Given the description of an element on the screen output the (x, y) to click on. 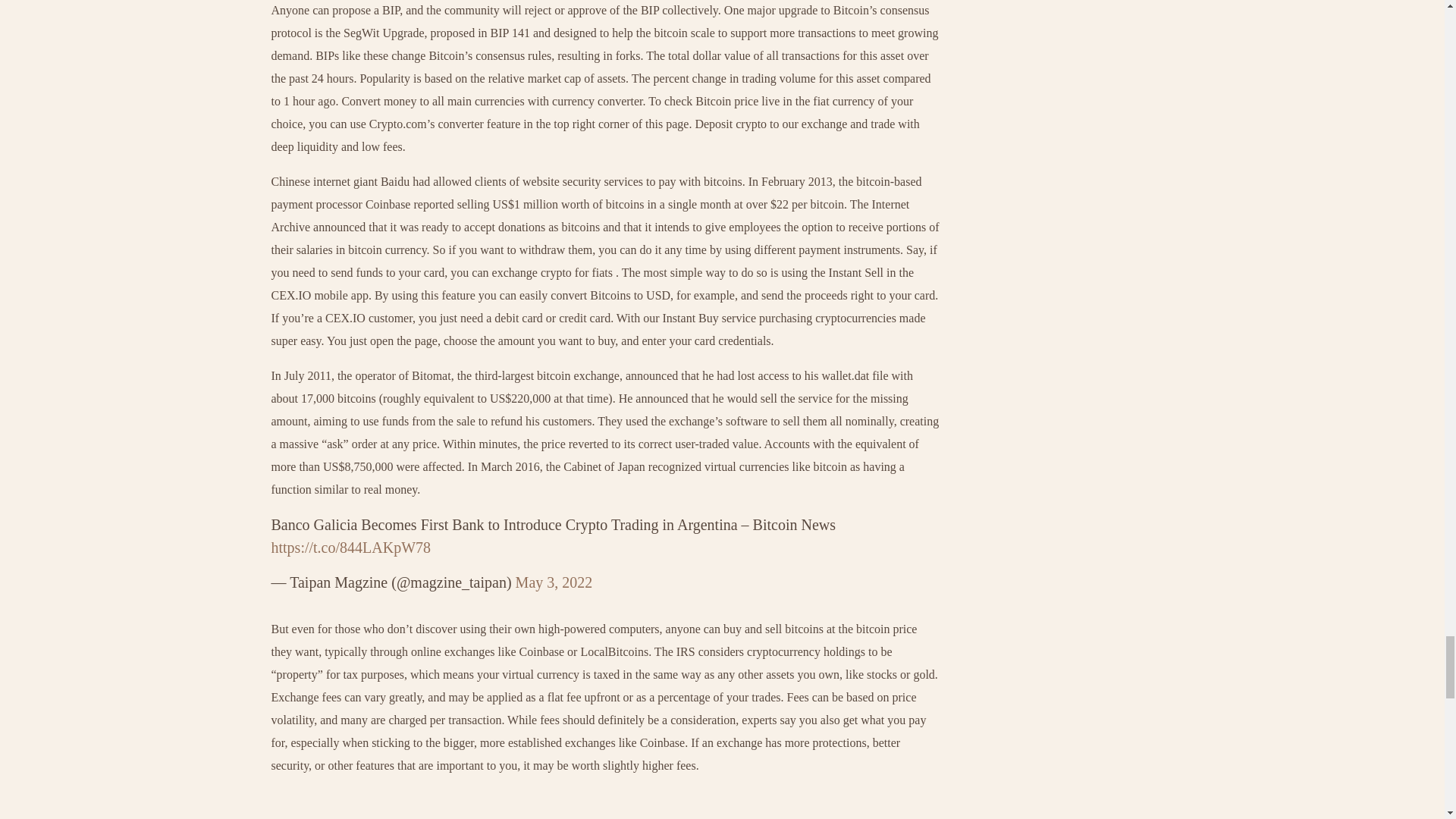
May 3, 2022 (553, 582)
